Given the description of an element on the screen output the (x, y) to click on. 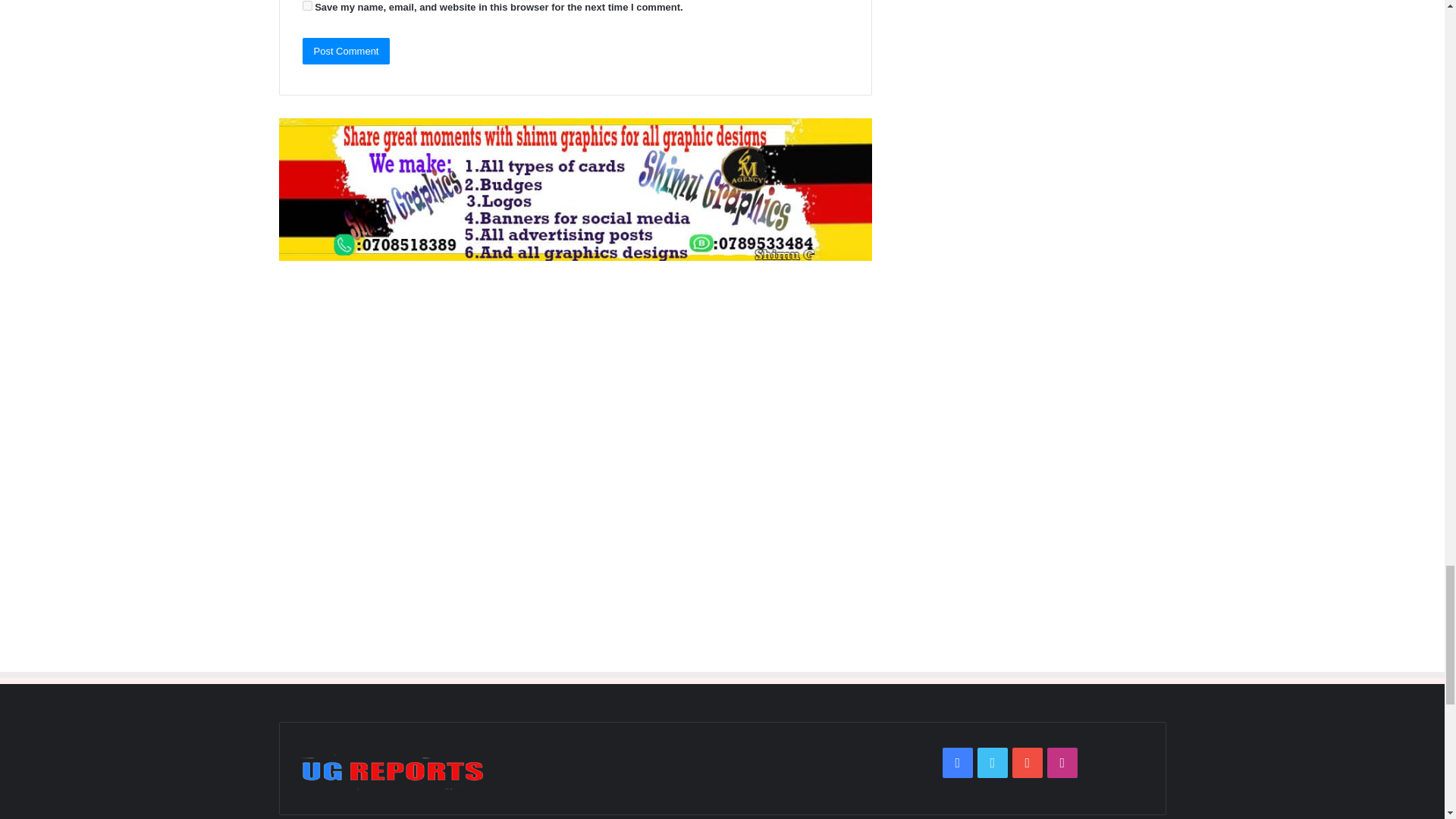
yes (306, 5)
Post Comment (345, 50)
